Given the description of an element on the screen output the (x, y) to click on. 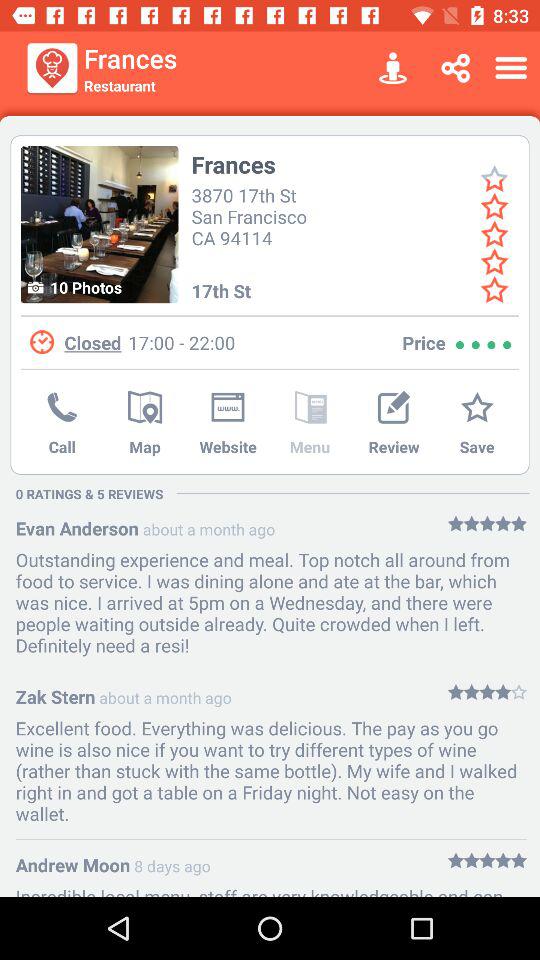
launch icon above the 17th st item (251, 214)
